Given the description of an element on the screen output the (x, y) to click on. 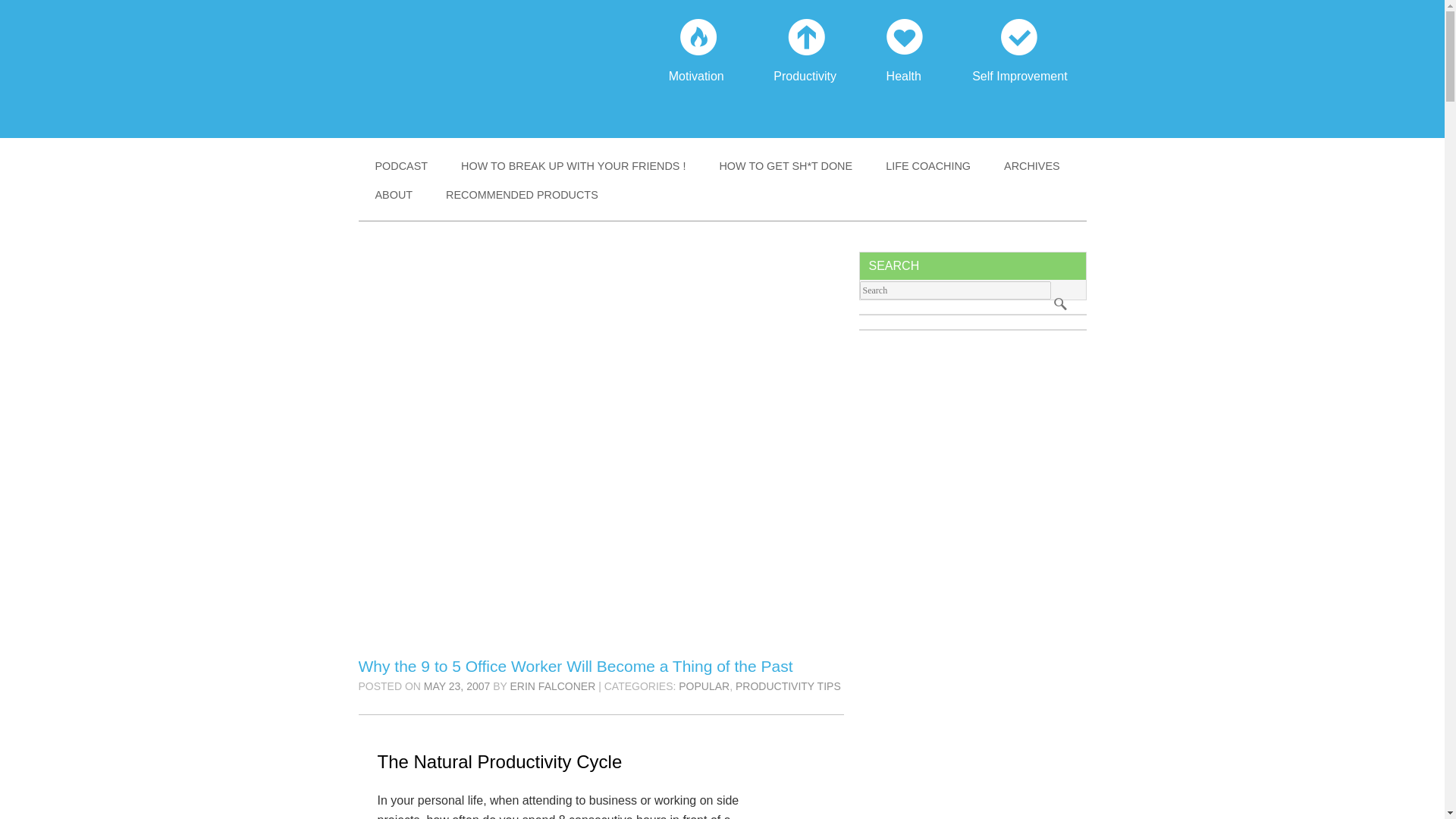
View all posts in productivity tips (788, 685)
POPULAR (703, 685)
4:45 am (456, 685)
HOW TO BREAK UP WITH YOUR FRIENDS ! (572, 165)
PODCAST (401, 165)
ABOUT (393, 194)
RECOMMENDED PRODUCTS (521, 194)
s (1060, 302)
ERIN FALCONER (553, 685)
ARCHIVES (1032, 165)
